Given the description of an element on the screen output the (x, y) to click on. 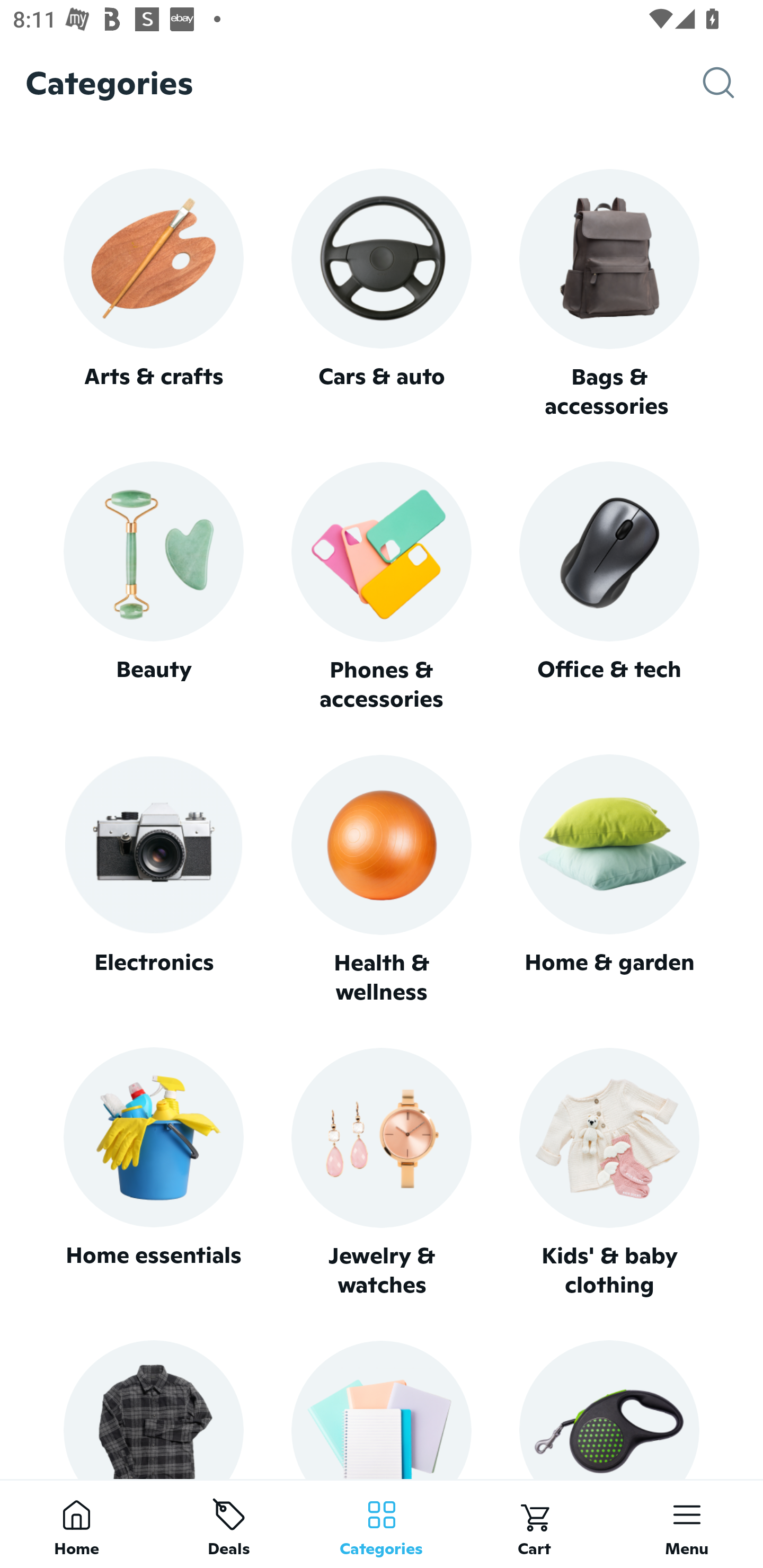
Search (732, 82)
Arts & crafts (153, 293)
Cars & auto (381, 293)
Bags & accessories  (609, 294)
Beauty (153, 586)
Office & tech (609, 586)
Phones & accessories (381, 587)
Electronics (153, 880)
Home & garden (609, 880)
Health & wellness (381, 880)
Home essentials (153, 1172)
Jewelry & watches (381, 1172)
Kids' & baby clothing (609, 1172)
Men's clothing (153, 1409)
Pet supplies (609, 1409)
Office & school supplies (381, 1409)
Home (76, 1523)
Deals (228, 1523)
Categories (381, 1523)
Cart (533, 1523)
Menu (686, 1523)
